Given the description of an element on the screen output the (x, y) to click on. 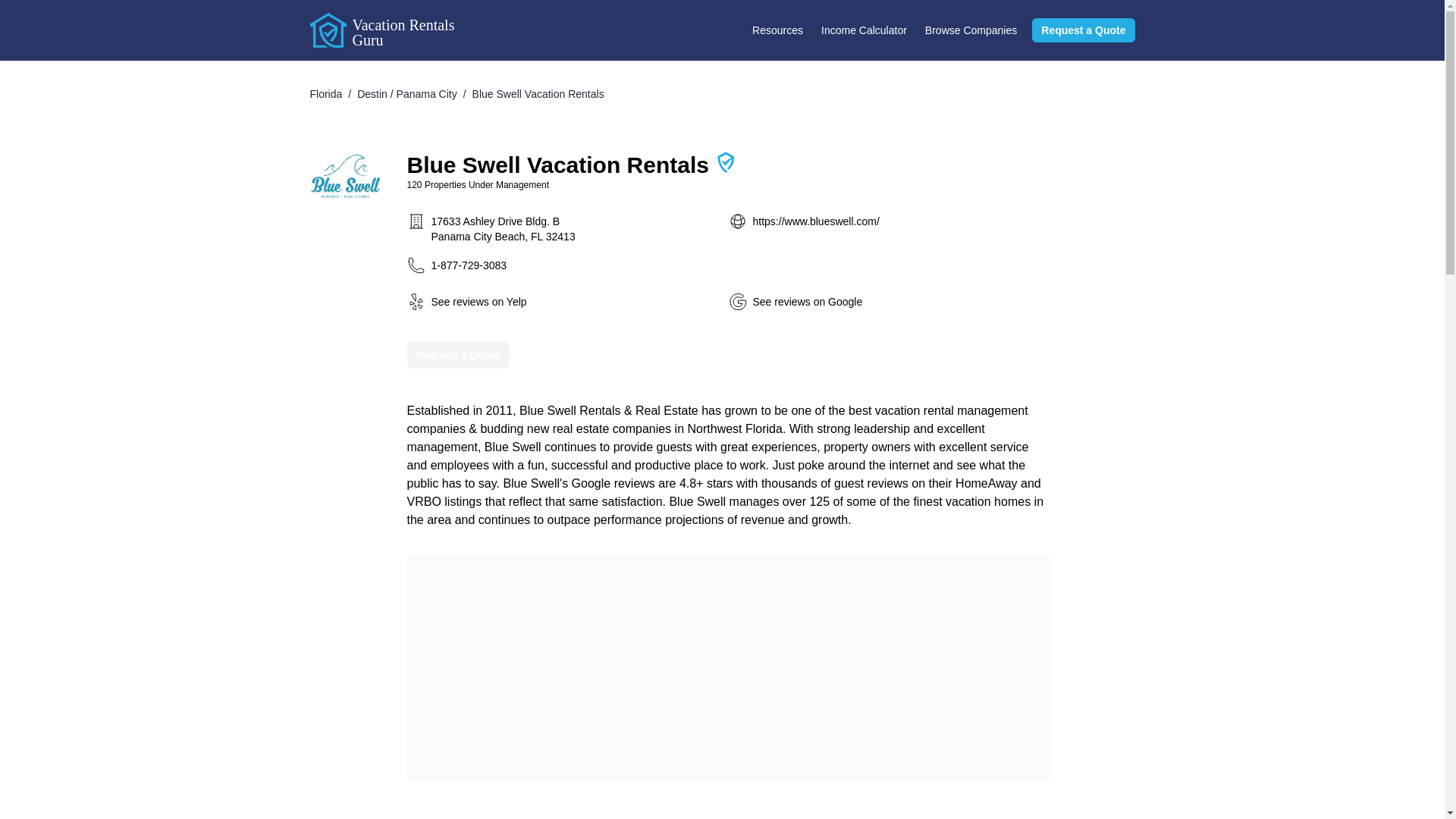
Income Calculator (863, 30)
Vacation Rentals Guru (383, 30)
Request a Quote (1083, 30)
Resources (777, 30)
